Given the description of an element on the screen output the (x, y) to click on. 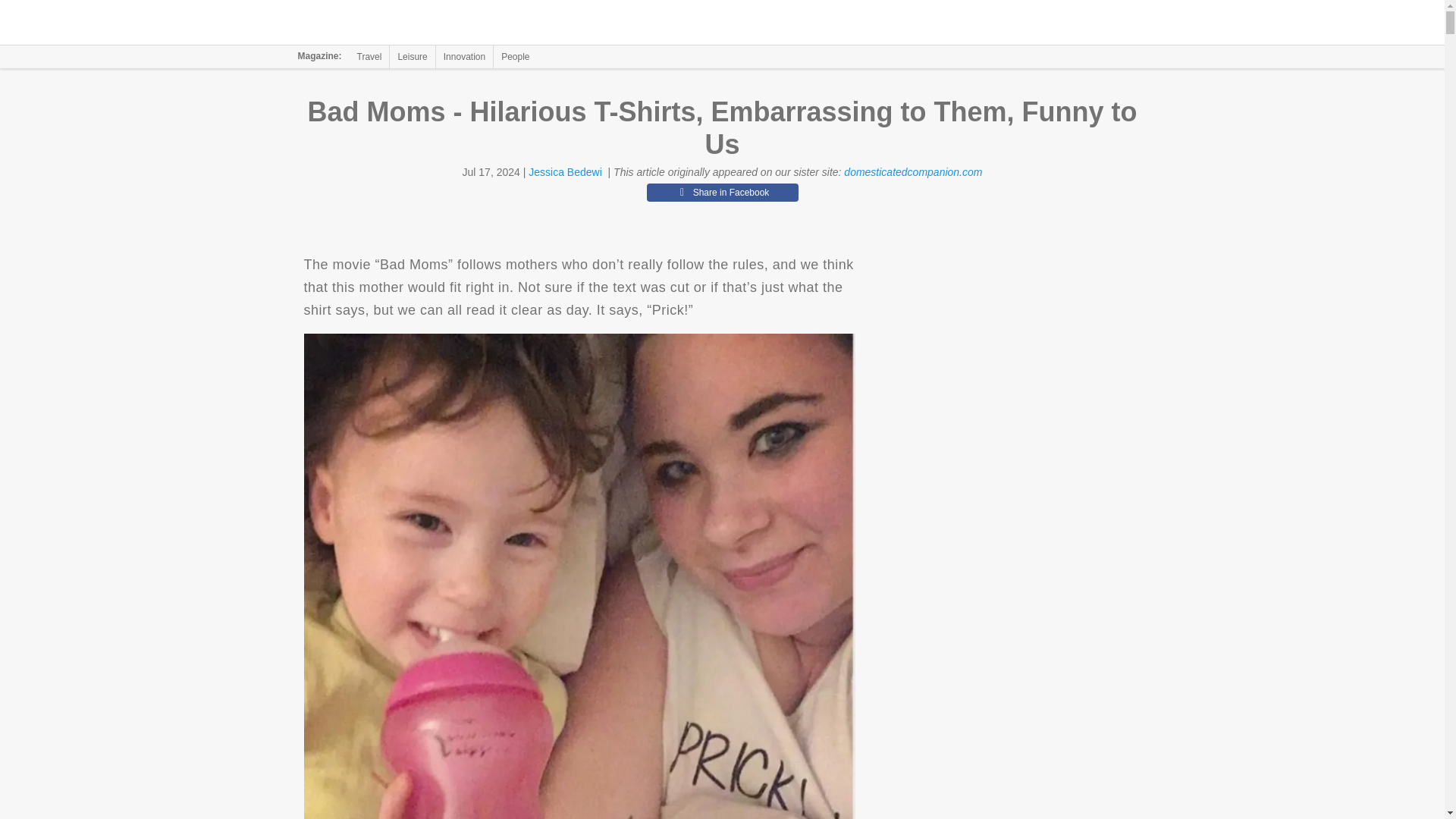
domesticatedcompanion.com (912, 172)
Share in Facebook (721, 192)
Jessica Bedewi (565, 172)
The Jerusalem Post Magazine (391, 22)
People (515, 56)
Travel (369, 56)
Leisure (411, 56)
Innovation (464, 56)
